Given the description of an element on the screen output the (x, y) to click on. 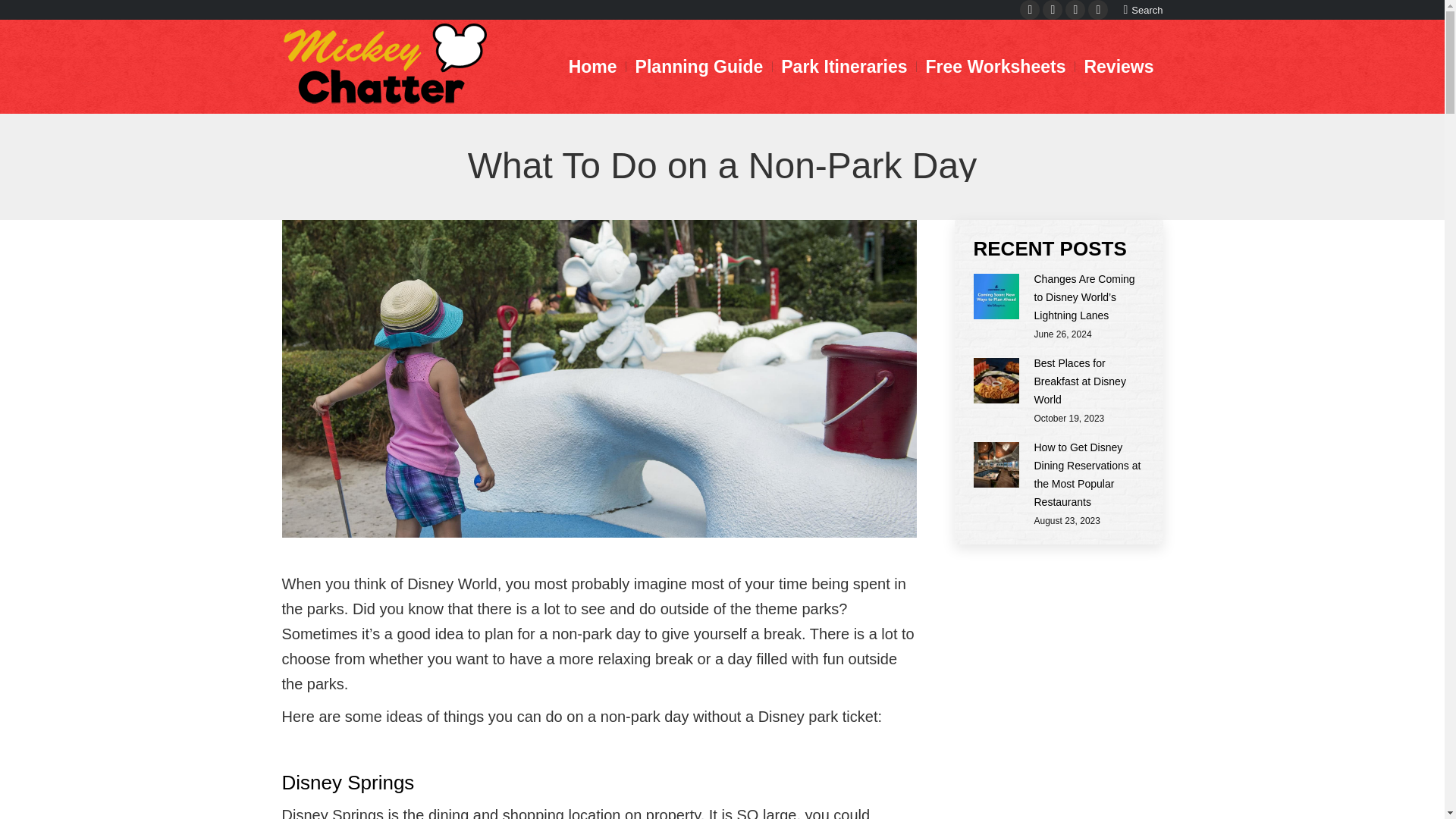
Search (1141, 10)
Instagram (361, 607)
Instagram (1074, 9)
Home (592, 65)
Facebook (1029, 9)
Pinterest (1052, 9)
Go! (24, 15)
Facebook (292, 607)
Pinterest (339, 607)
Facebook (1029, 9)
Instagram (1074, 9)
Twitter (315, 607)
Planning Guide (699, 65)
Twitter (1097, 9)
Pinterest (1052, 9)
